Given the description of an element on the screen output the (x, y) to click on. 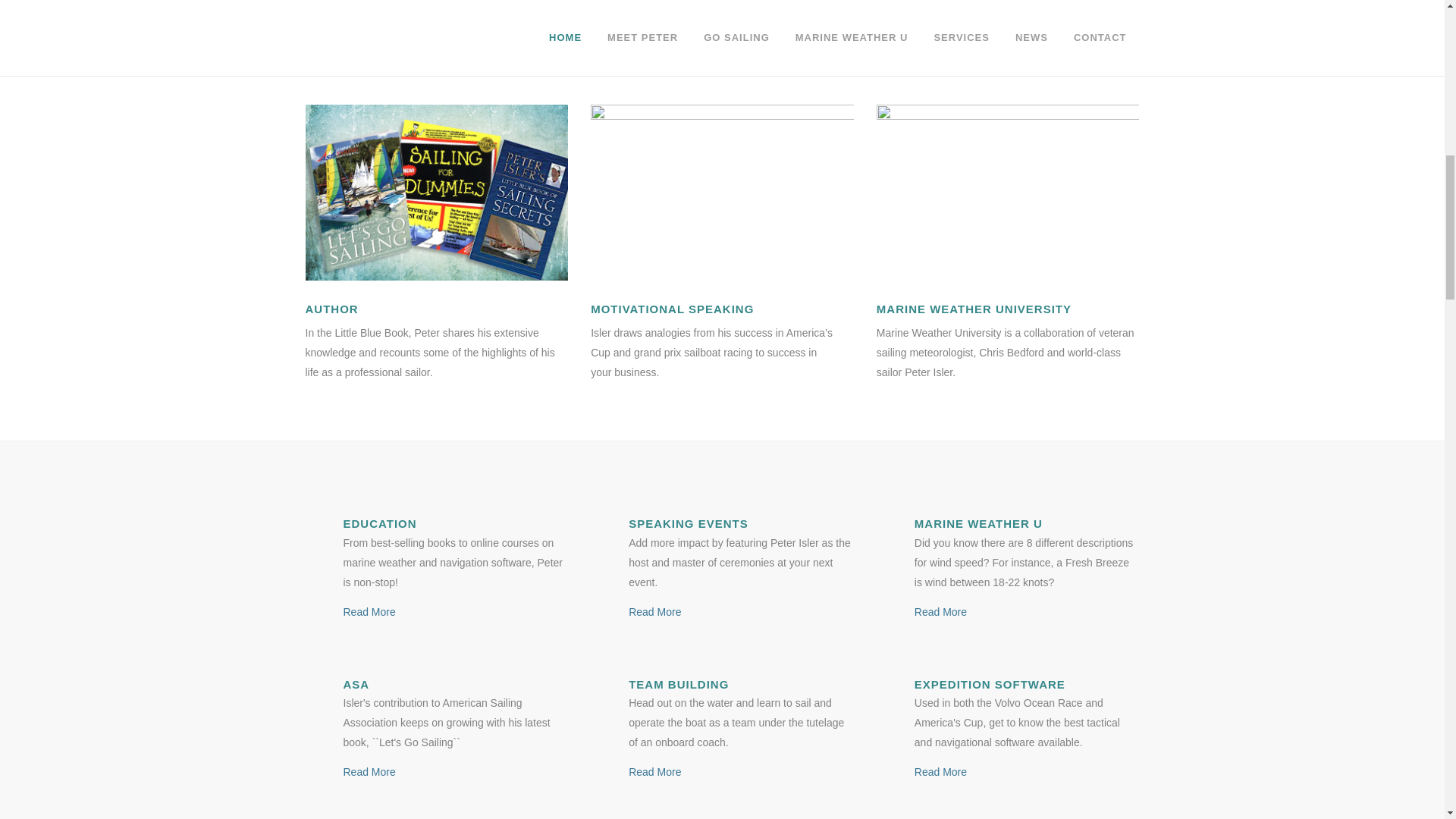
EDUCATION (435, 192)
SPEAKING (722, 192)
